Given the description of an element on the screen output the (x, y) to click on. 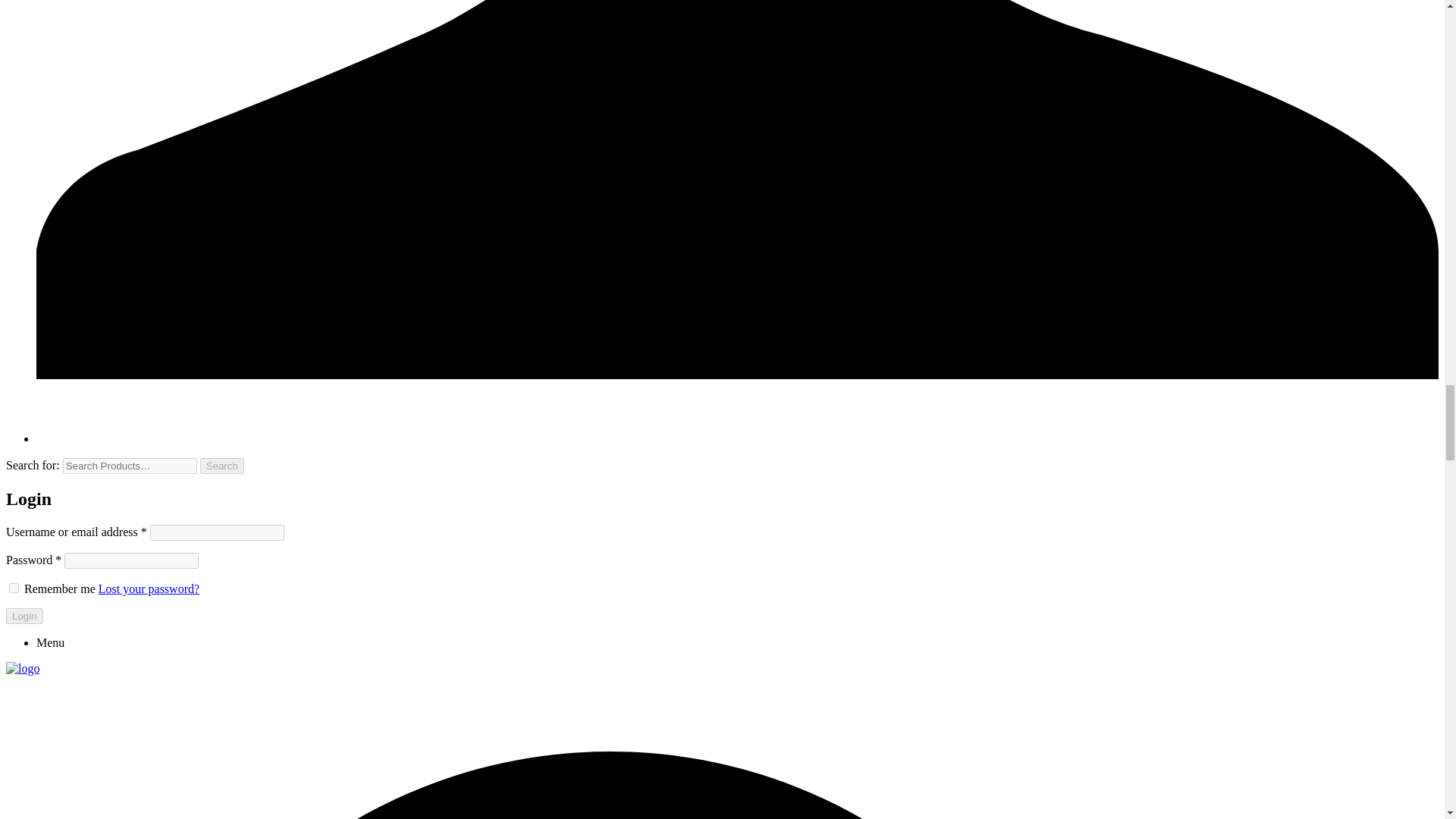
Lost your password? (149, 588)
forever (13, 587)
Search for: (129, 465)
Login (24, 616)
Search (222, 465)
Login (24, 616)
Search (222, 465)
